Given the description of an element on the screen output the (x, y) to click on. 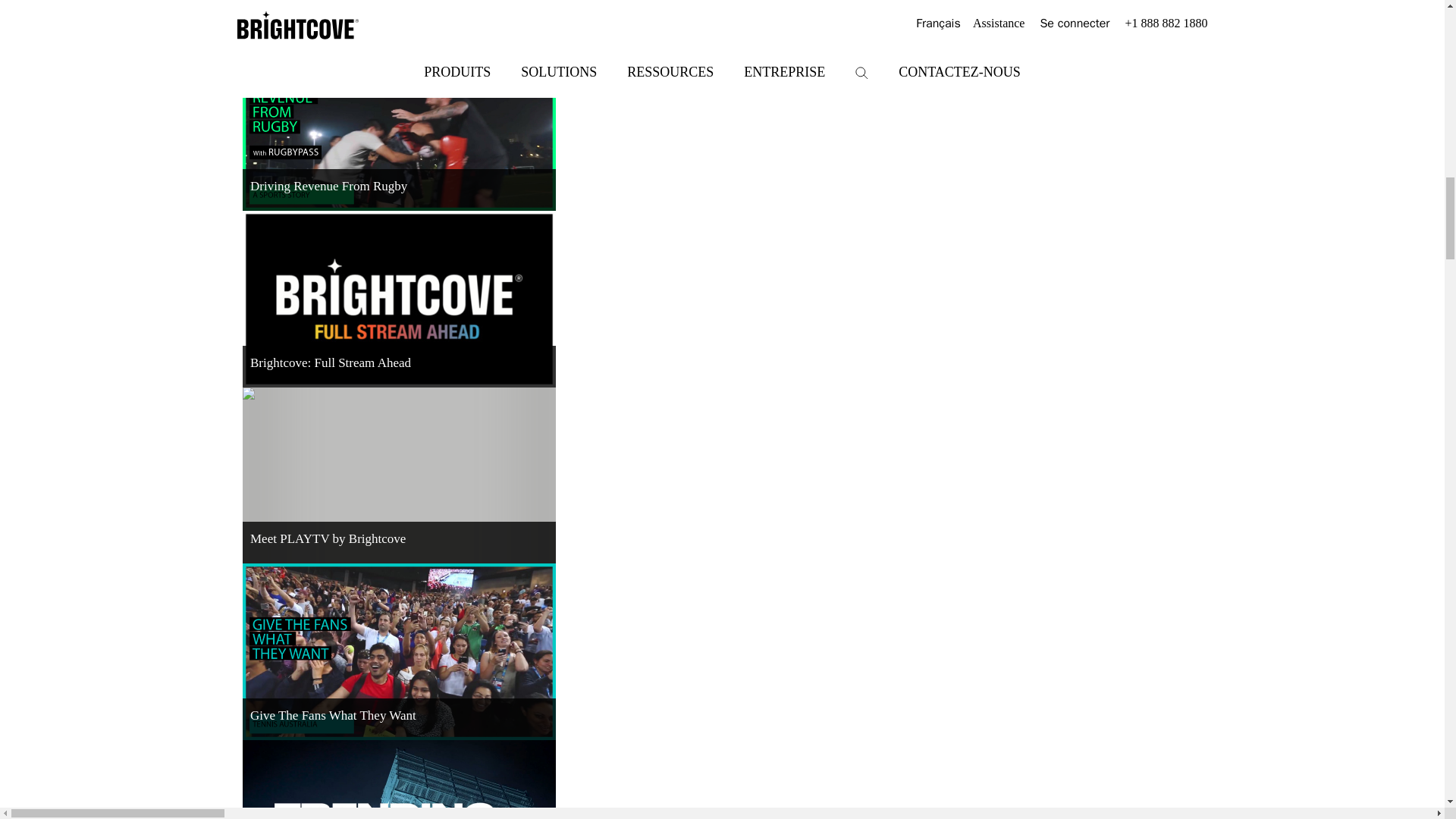
Brightcove: Full Stream Ahead (399, 298)
Trending In Sports (399, 779)
Give The Fans What They Want (399, 651)
Meet PLAYTV by Brightcove (399, 475)
Driving Revenue From Rugby (399, 122)
